Given the description of an element on the screen output the (x, y) to click on. 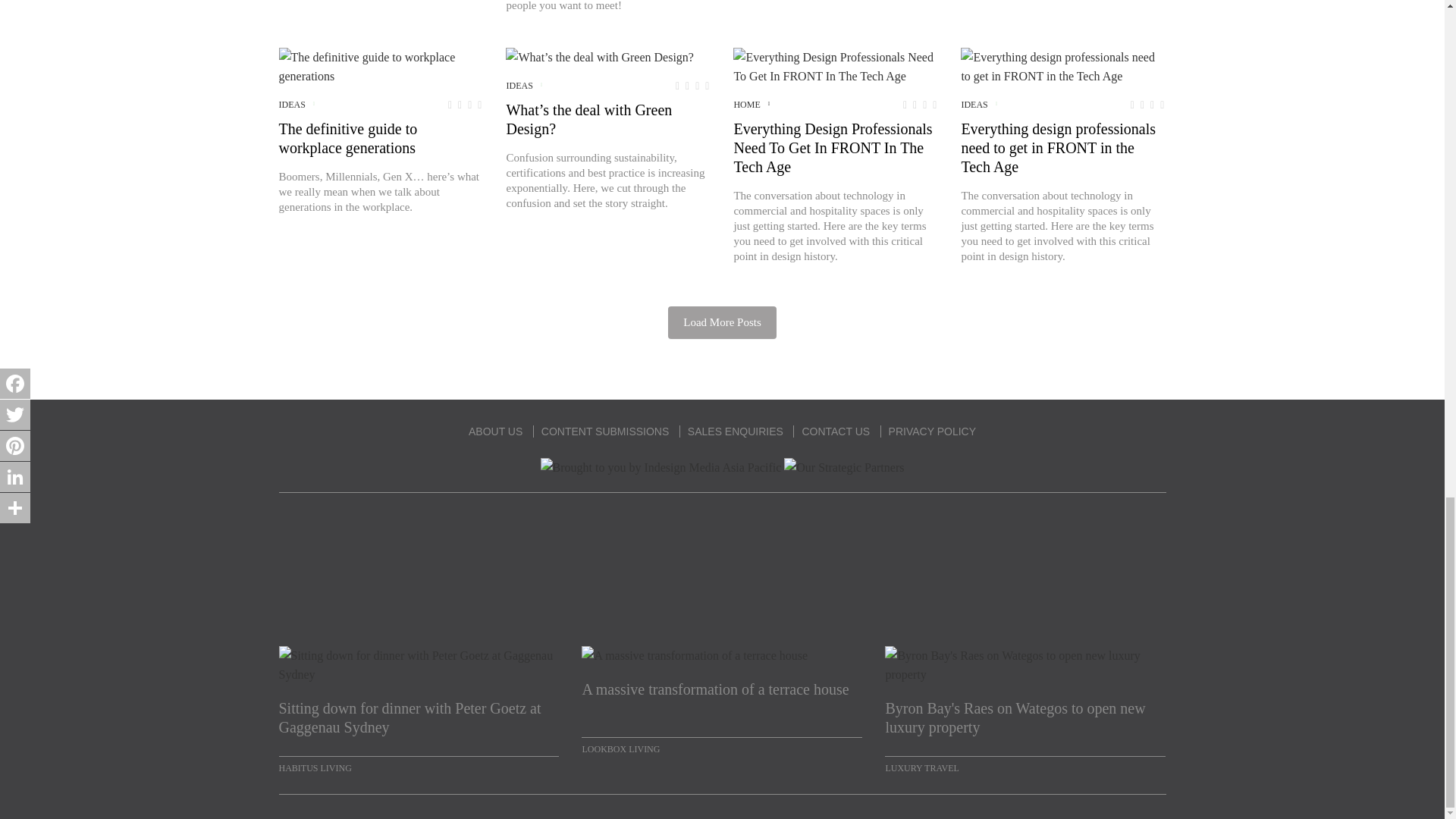
Sitting down for dinner with Peter Goetz at Gaggenau Sydney (419, 718)
The definitive guide to workplace generations (381, 66)
Brought to you by Indesign Media Asia Pacific (660, 466)
Our Strategic Partners (844, 466)
